Given the description of an element on the screen output the (x, y) to click on. 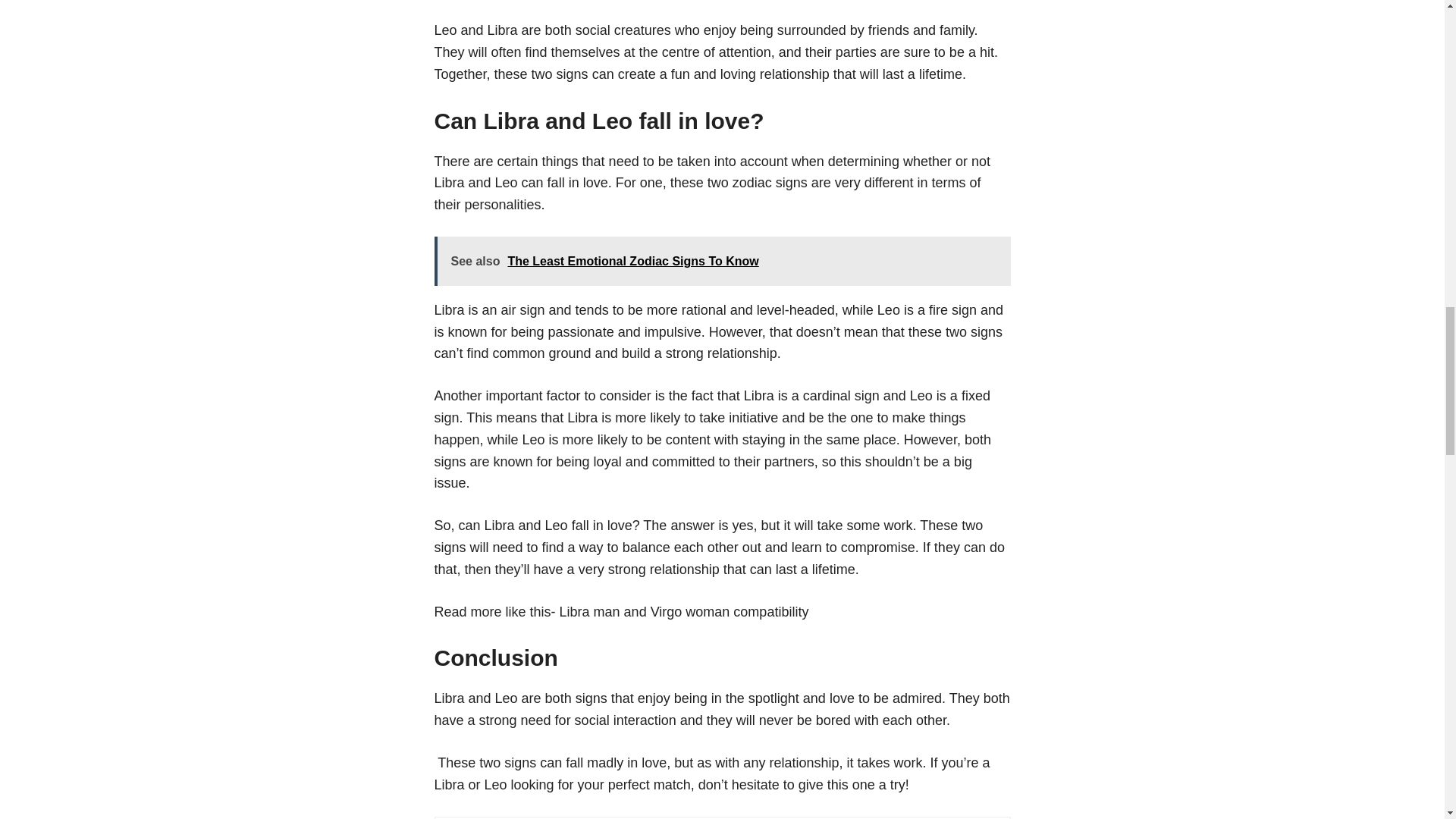
Libra man and Virgo woman compatibility (684, 611)
build a strong relationship (699, 353)
See also  The Least Emotional Zodiac Signs To Know (721, 260)
